Given the description of an element on the screen output the (x, y) to click on. 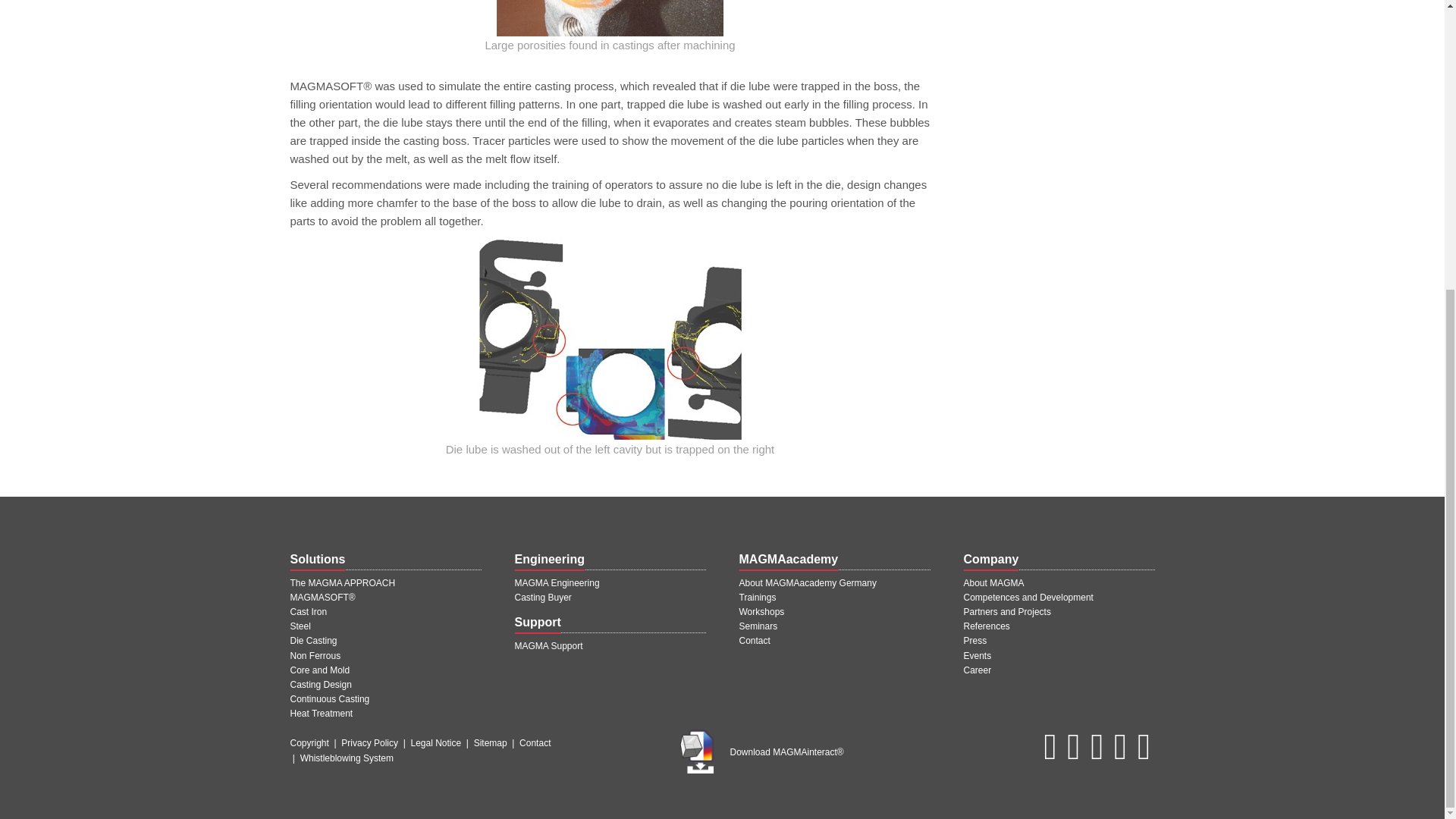
Footer-Link MAGMAinteract  (696, 750)
